Given the description of an element on the screen output the (x, y) to click on. 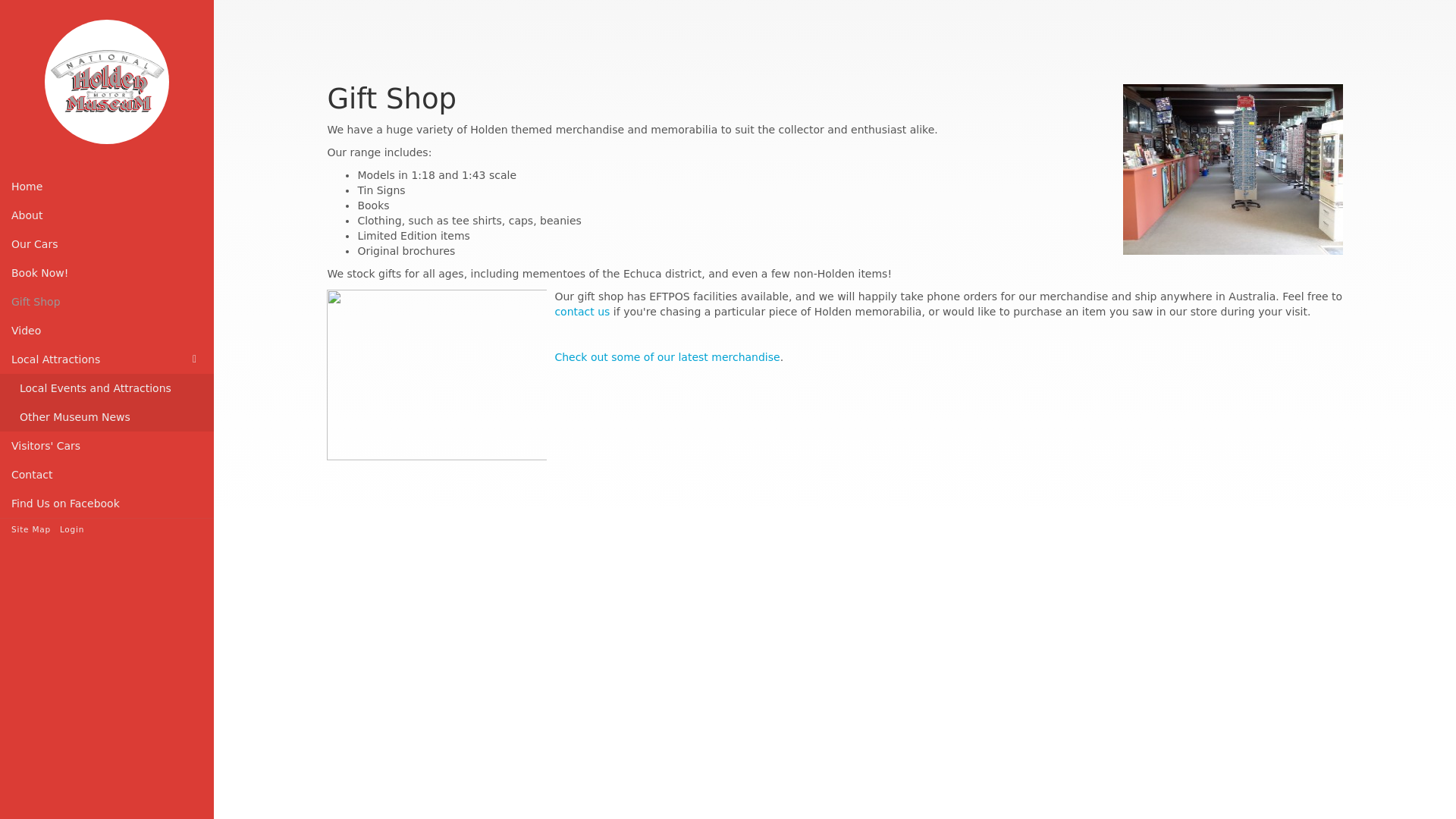
Video (107, 330)
Local Events and Attractions (107, 387)
Site Map (30, 528)
About (107, 215)
Gift Shop (107, 301)
Contact (107, 474)
Local Events and Attractions (107, 387)
Home (107, 185)
Other Museum News (107, 416)
Visitors' Cars (107, 445)
Contact (107, 474)
About (107, 215)
contact us (582, 311)
Visitors' Cars (107, 445)
Our Cars (107, 244)
